Given the description of an element on the screen output the (x, y) to click on. 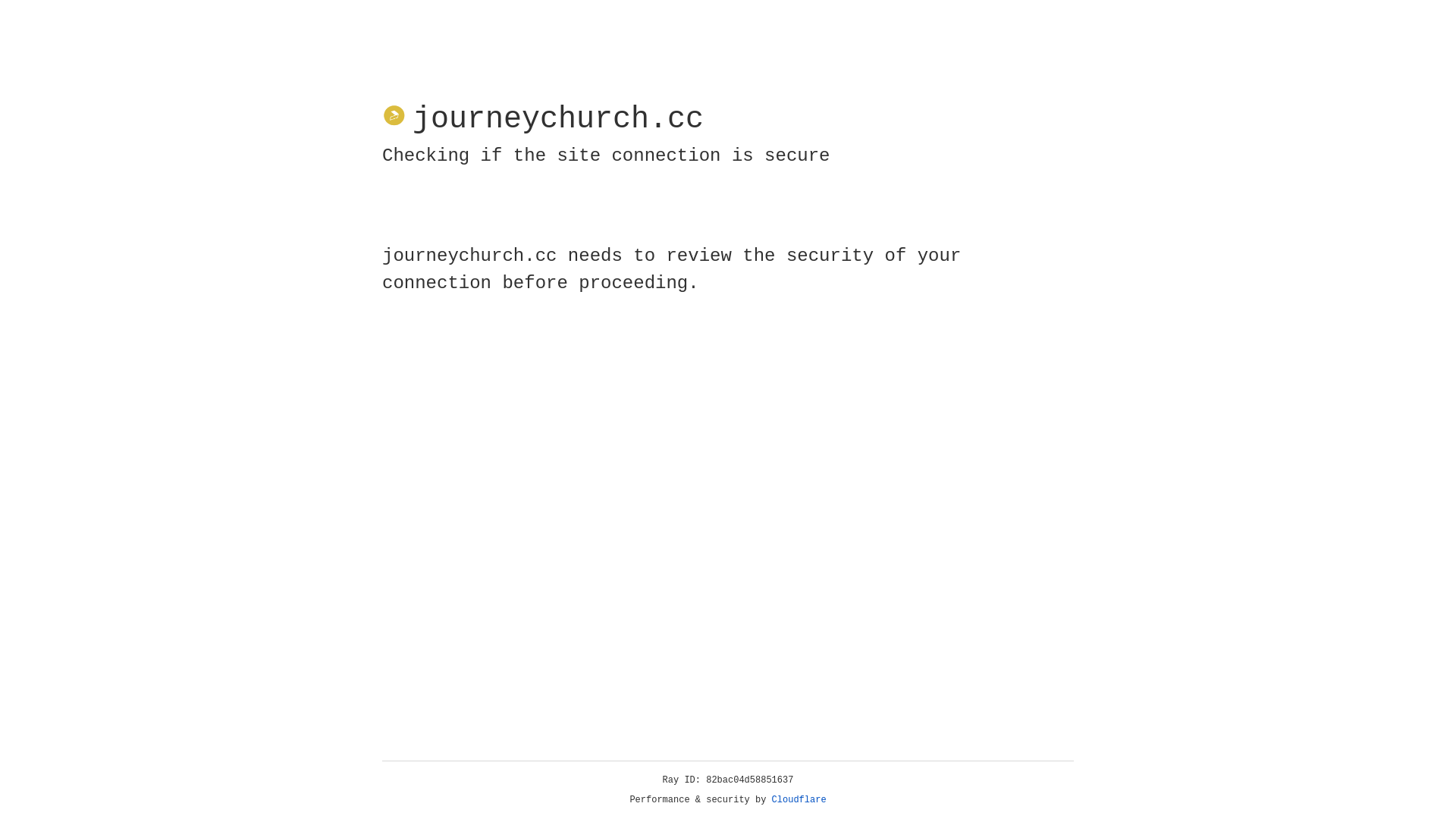
Cloudflare Element type: text (798, 799)
